Given the description of an element on the screen output the (x, y) to click on. 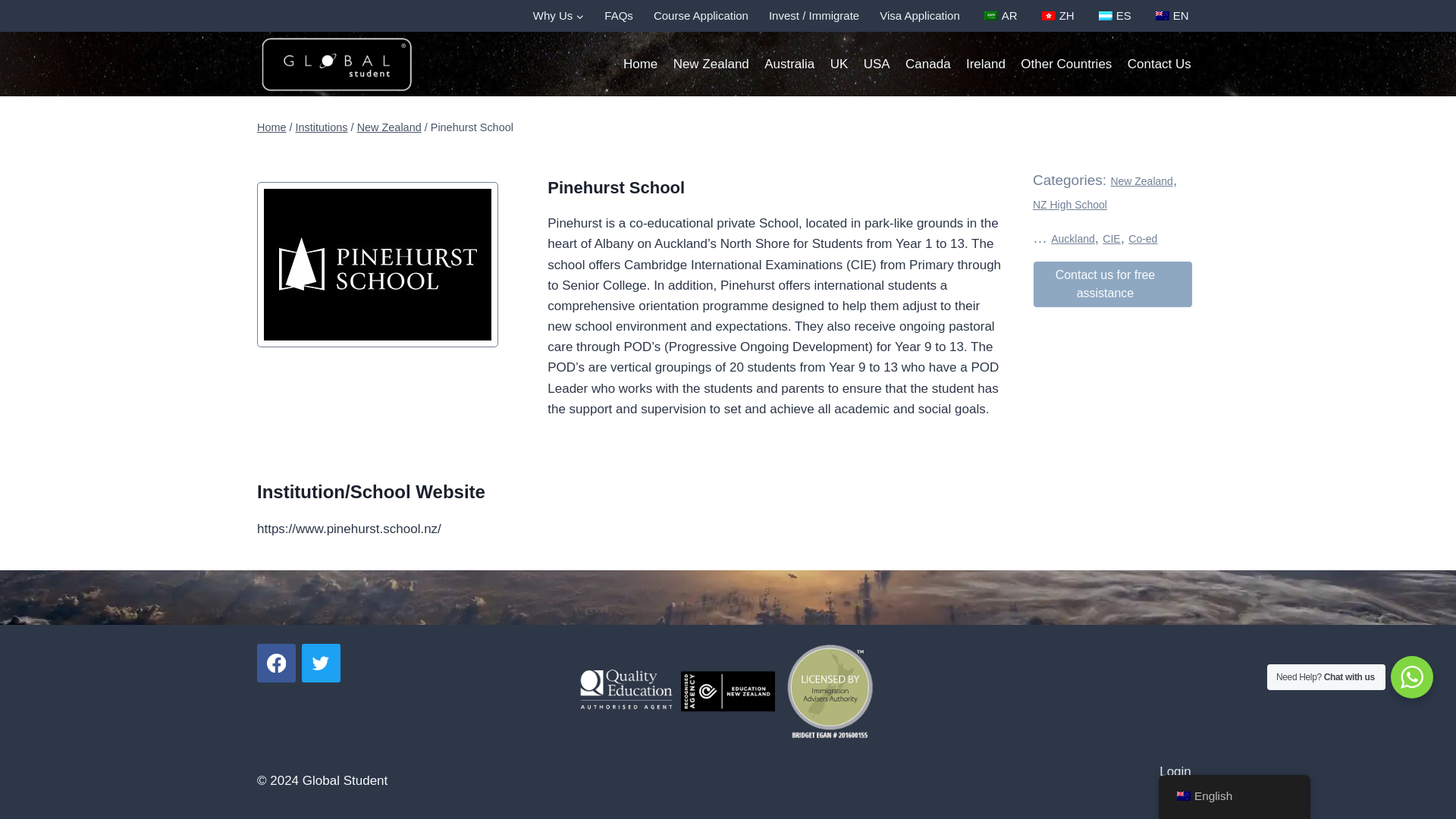
Ireland (985, 63)
Contact Us (1158, 63)
Visa Application (920, 15)
Canada (928, 63)
Spanish (1105, 15)
NZ High School (1069, 204)
UK (839, 63)
ES (1112, 15)
Chinese (1048, 15)
Other Countries (1066, 63)
CIE (1110, 238)
English (1183, 795)
New Zealand (1141, 181)
Auckland (1072, 238)
FAQs (618, 15)
